Given the description of an element on the screen output the (x, y) to click on. 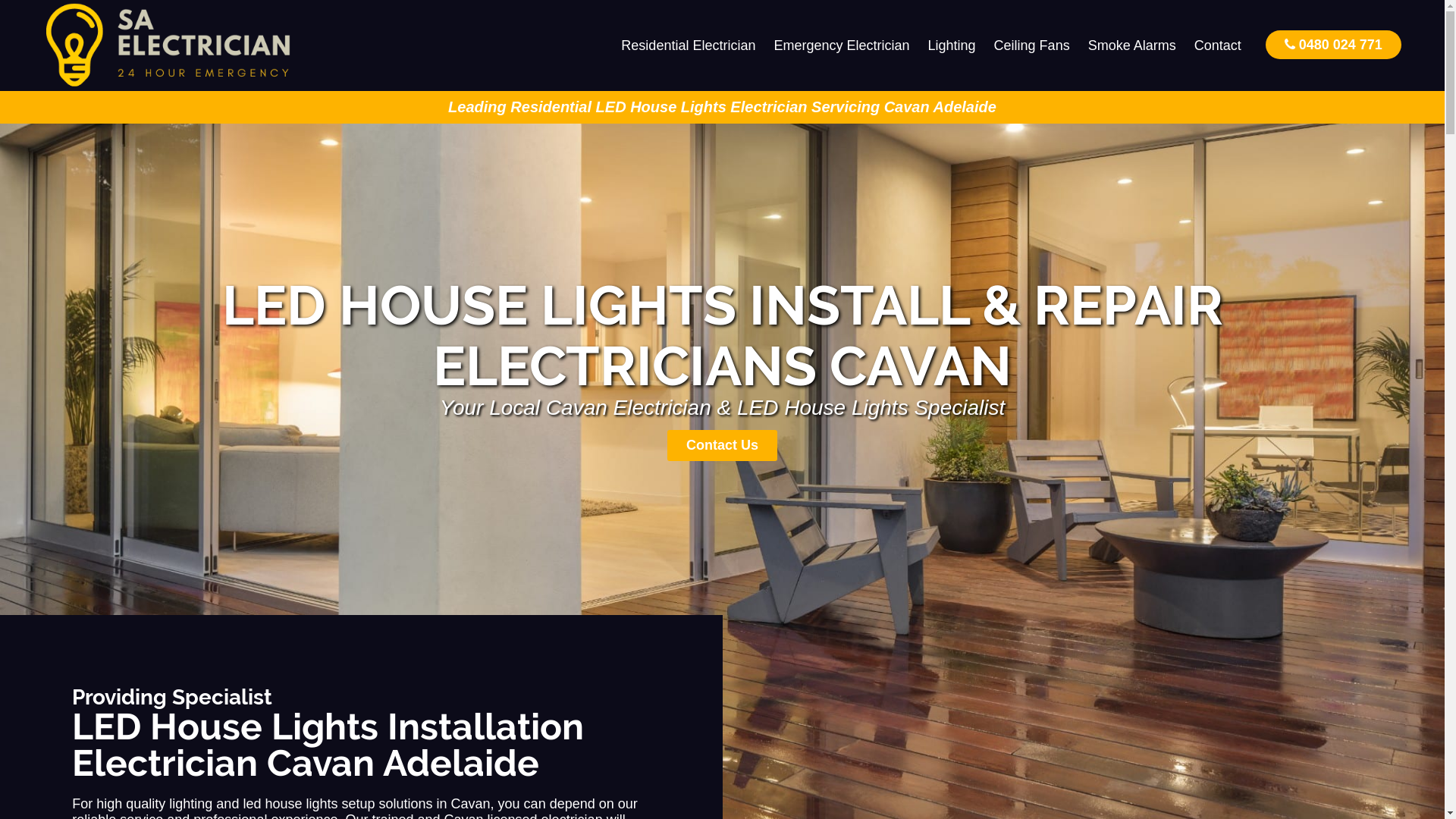
Contact Element type: text (1217, 45)
Contact Us Element type: text (722, 445)
Emergency Electrician Element type: text (841, 45)
Smoke Alarms Element type: text (1132, 45)
Lighting Element type: text (952, 45)
Ceiling Fans Element type: text (1032, 45)
Residential Electrician Element type: text (687, 45)
0480 024 771 Element type: text (1333, 44)
